Given the description of an element on the screen output the (x, y) to click on. 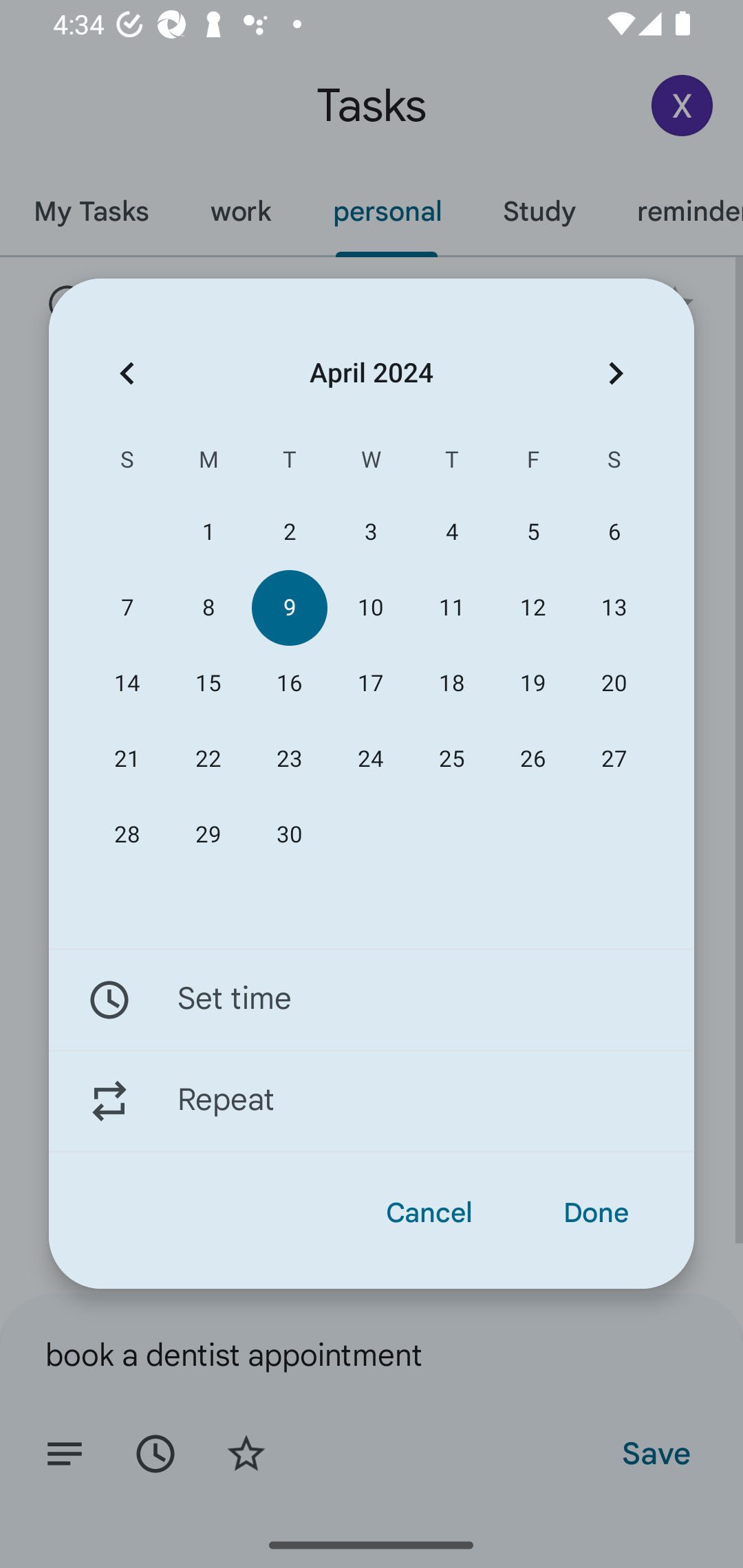
Previous month (126, 372)
Next month (615, 372)
1 01 April 2024 (207, 531)
2 02 April 2024 (288, 531)
3 03 April 2024 (370, 531)
4 04 April 2024 (451, 531)
5 05 April 2024 (532, 531)
6 06 April 2024 (613, 531)
7 07 April 2024 (126, 608)
8 08 April 2024 (207, 608)
9 09 April 2024 (288, 608)
10 10 April 2024 (370, 608)
11 11 April 2024 (451, 608)
12 12 April 2024 (532, 608)
13 13 April 2024 (613, 608)
14 14 April 2024 (126, 683)
15 15 April 2024 (207, 683)
16 16 April 2024 (288, 683)
17 17 April 2024 (370, 683)
18 18 April 2024 (451, 683)
19 19 April 2024 (532, 683)
20 20 April 2024 (613, 683)
21 21 April 2024 (126, 758)
22 22 April 2024 (207, 758)
23 23 April 2024 (288, 758)
24 24 April 2024 (370, 758)
25 25 April 2024 (451, 758)
26 26 April 2024 (532, 758)
27 27 April 2024 (613, 758)
28 28 April 2024 (126, 834)
29 29 April 2024 (207, 834)
30 30 April 2024 (288, 834)
Set time (371, 999)
Repeat (371, 1101)
Cancel (429, 1213)
Done (595, 1213)
